Given the description of an element on the screen output the (x, y) to click on. 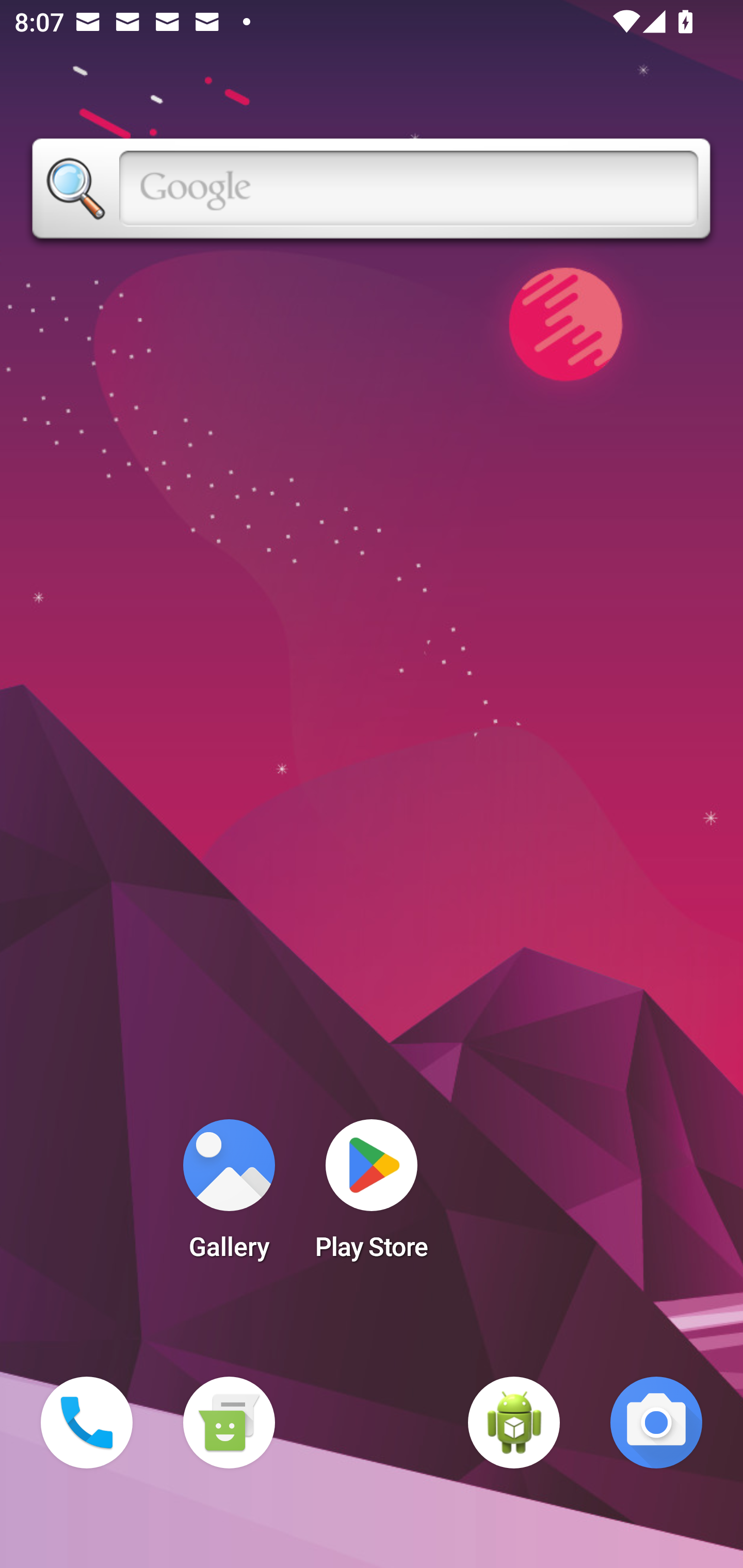
Gallery (228, 1195)
Play Store (371, 1195)
Phone (86, 1422)
Messaging (228, 1422)
WebView Browser Tester (513, 1422)
Camera (656, 1422)
